Given the description of an element on the screen output the (x, y) to click on. 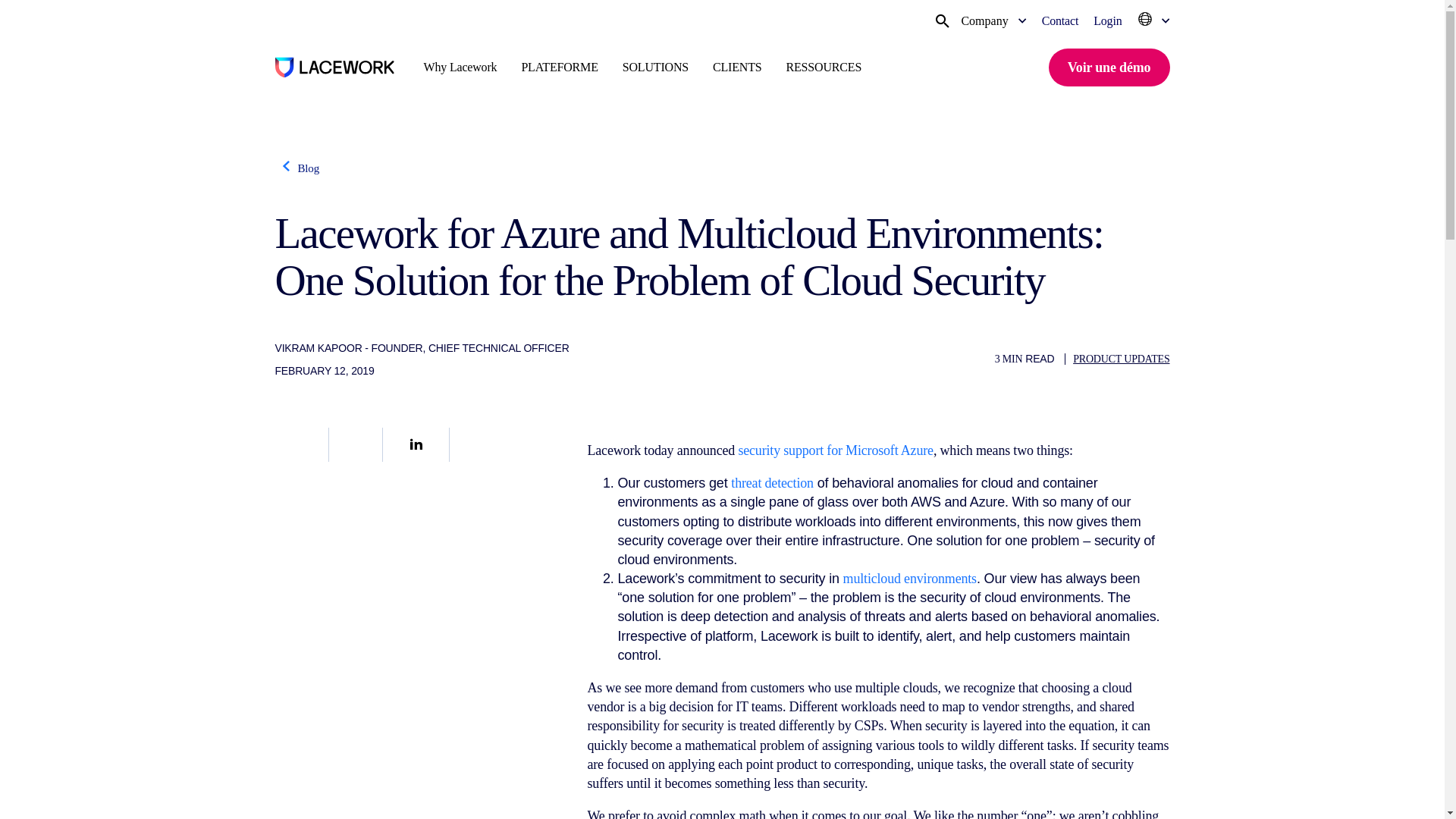
Why Lacework (459, 67)
PLATEFORME (559, 67)
Company (993, 20)
Contact (1059, 20)
Login (1107, 20)
